Given the description of an element on the screen output the (x, y) to click on. 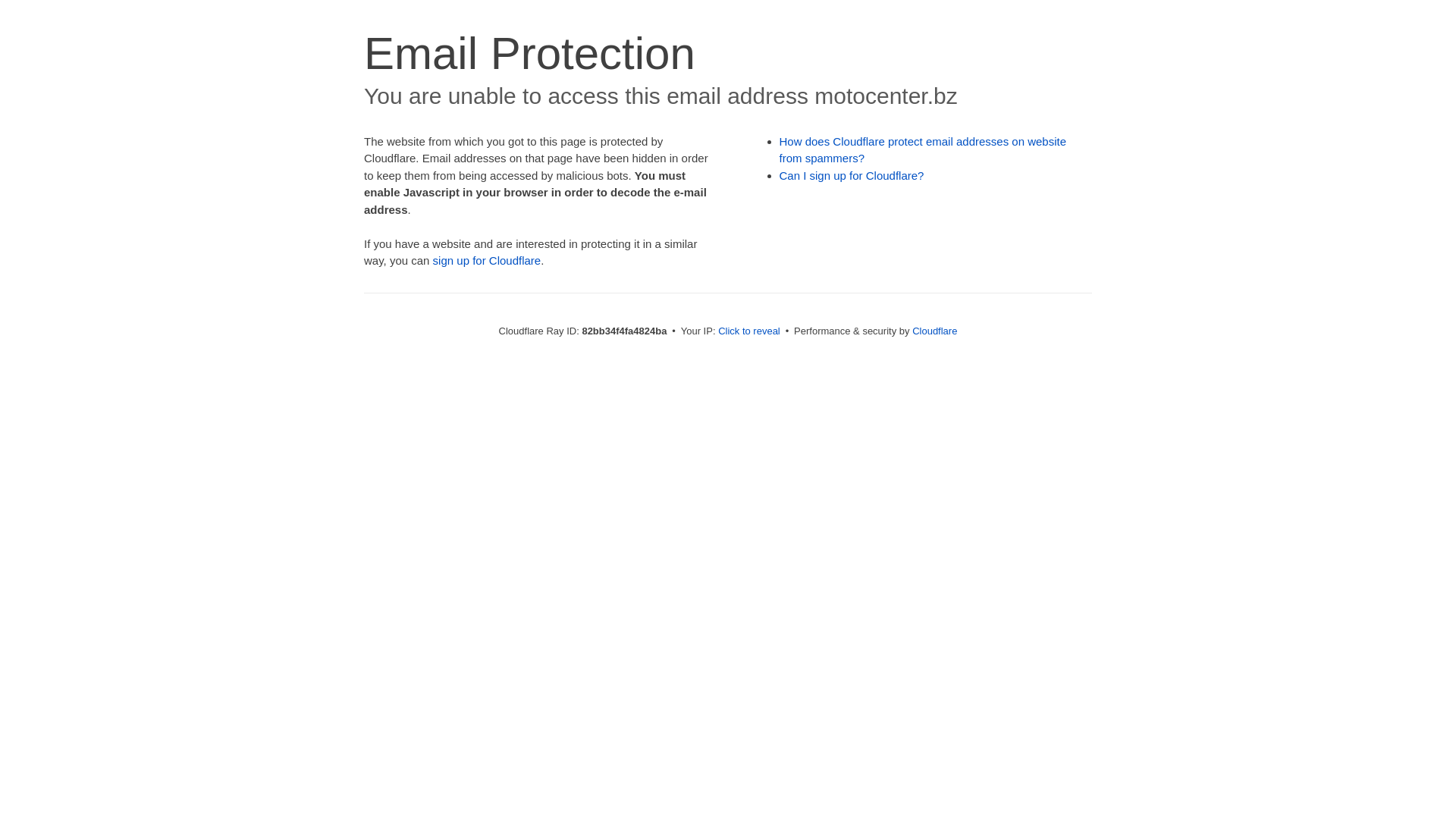
Click to reveal Element type: text (749, 330)
sign up for Cloudflare Element type: text (487, 260)
Can I sign up for Cloudflare? Element type: text (851, 175)
Cloudflare Element type: text (934, 330)
